Given the description of an element on the screen output the (x, y) to click on. 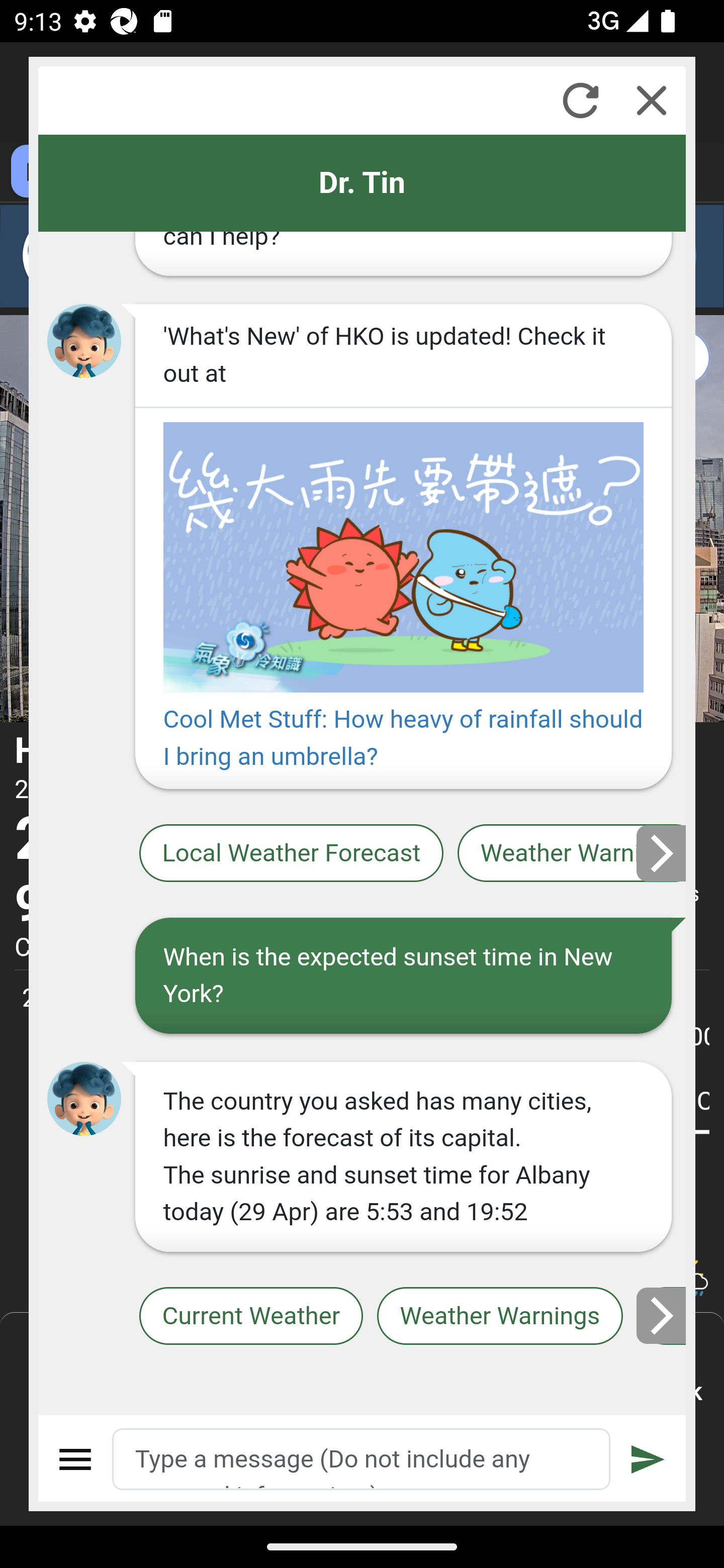
Refresh (580, 100)
Close (651, 100)
Local Weather Forecast (291, 854)
Weather Warnings (571, 854)
Next slide (661, 852)
Current Weather (250, 1315)
Weather Warnings (499, 1315)
Hong Kong Tidal Information (661, 1315)
Menu (75, 1458)
Submit (648, 1458)
